Given the description of an element on the screen output the (x, y) to click on. 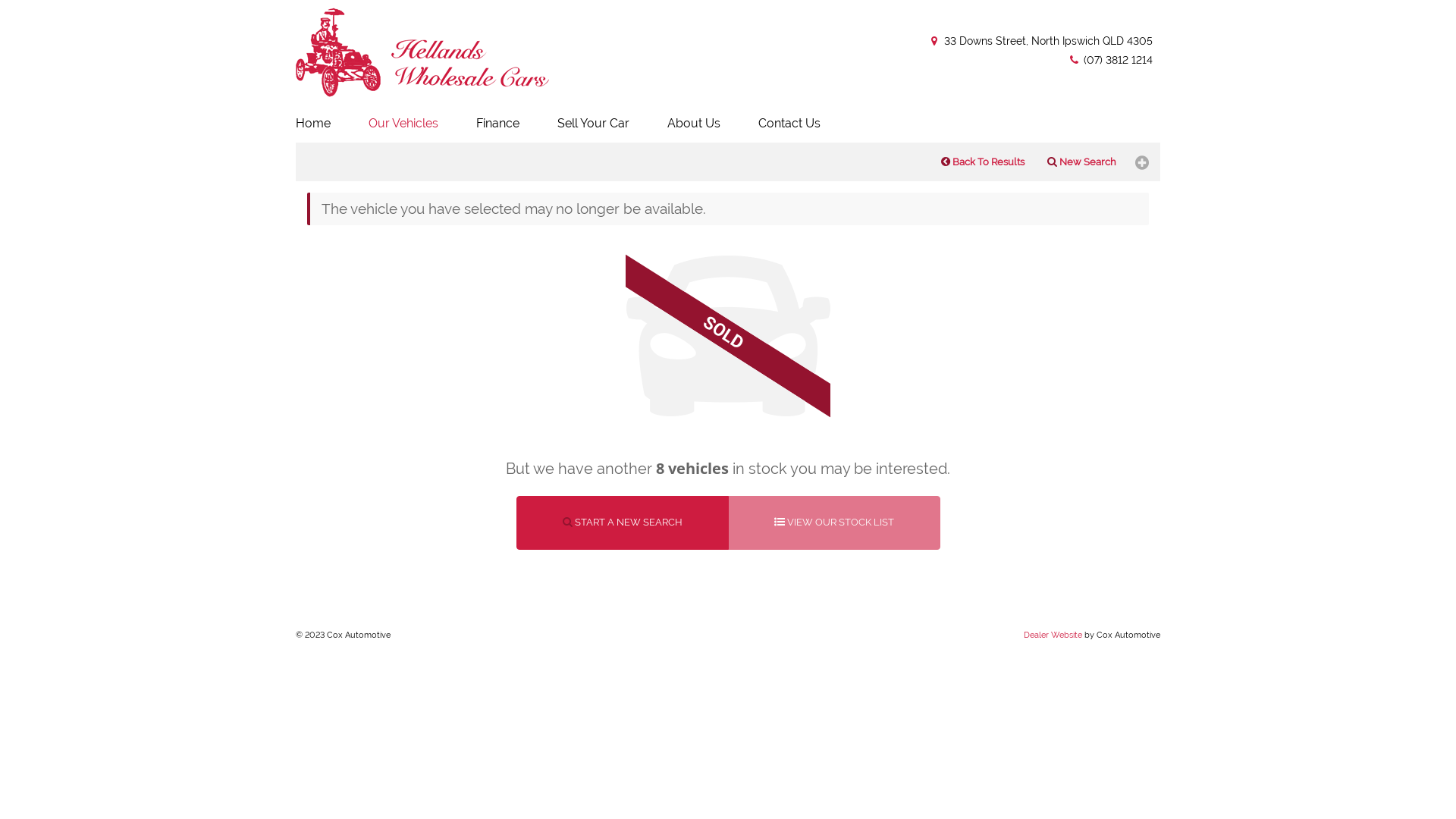
New Search Element type: text (1081, 162)
Back To Results Element type: text (982, 162)
START A NEW SEARCH Element type: text (621, 522)
(07) 3812 1214 Element type: text (1109, 59)
VIEW OUR STOCK LIST Element type: text (834, 522)
Home Element type: text (314, 123)
Dealer Website Element type: text (1052, 635)
Finance Element type: text (497, 123)
Sell Your Car Element type: text (593, 123)
Contact Us Element type: text (789, 123)
About Us Element type: text (693, 123)
33 Downs Street, North Ipswich QLD 4305 Element type: text (1039, 40)
Our Vehicles Element type: text (403, 123)
